Given the description of an element on the screen output the (x, y) to click on. 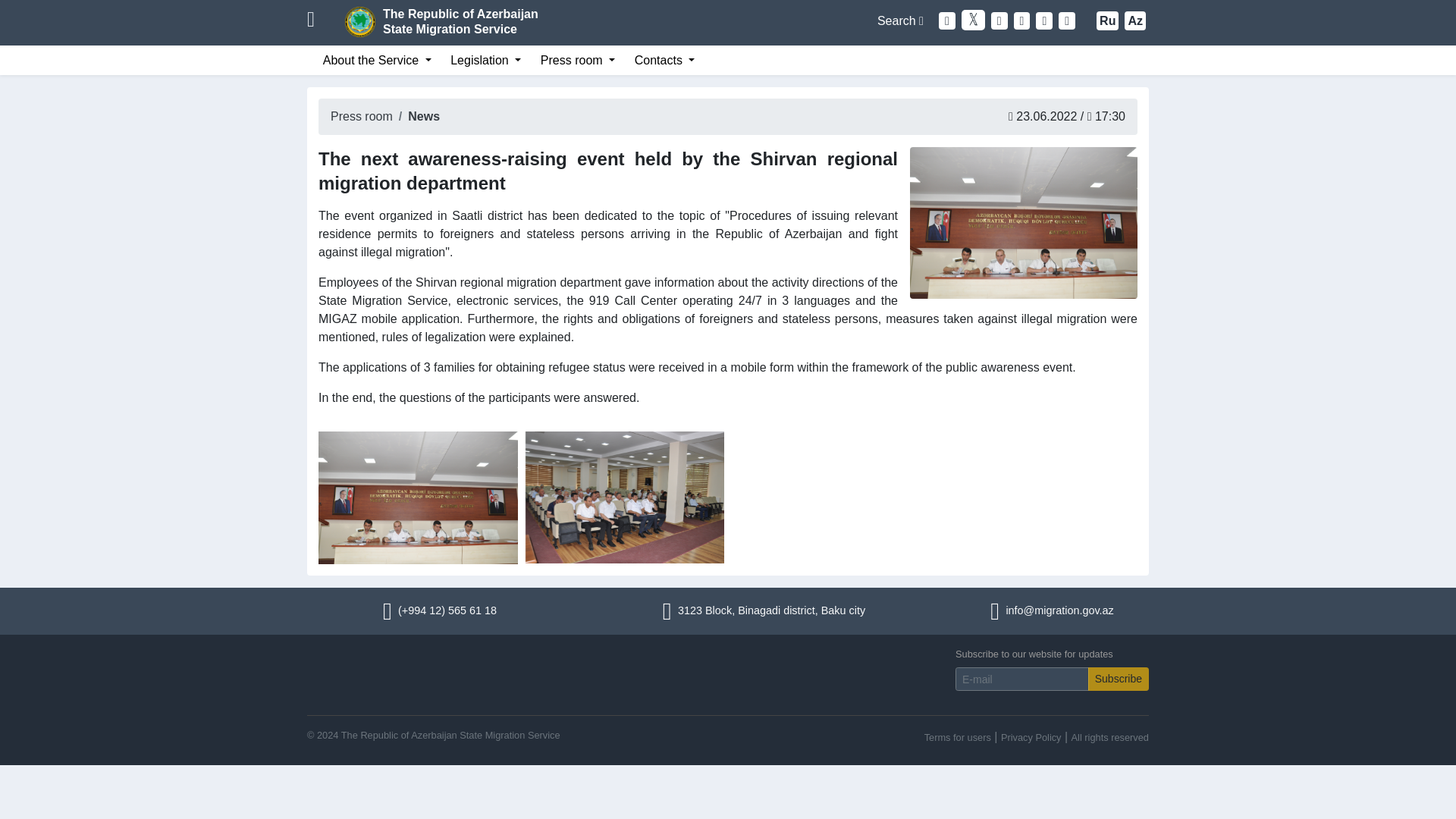
Ru (460, 21)
Search (1107, 20)
Subscribe (900, 20)
Az (1117, 679)
